Given the description of an element on the screen output the (x, y) to click on. 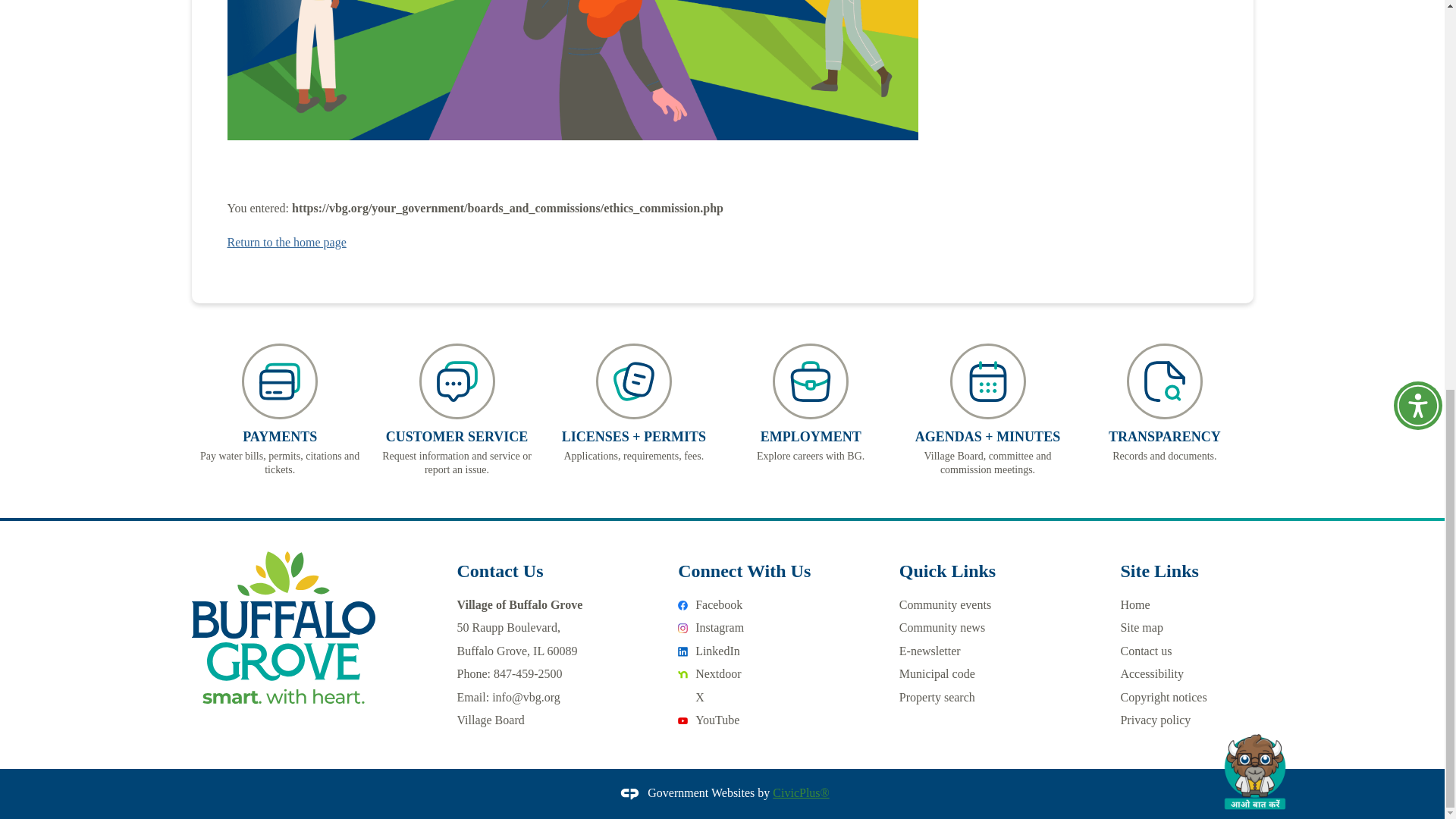
Nextdoor (766, 674)
Community news (942, 626)
Instagram (810, 403)
Community events (766, 627)
Home (945, 604)
LinkedIn (1134, 604)
Municipal code (766, 651)
Facebook (937, 673)
Site Links (766, 605)
Quick Links (1158, 570)
Village Board (947, 570)
Property search (490, 719)
